Given the description of an element on the screen output the (x, y) to click on. 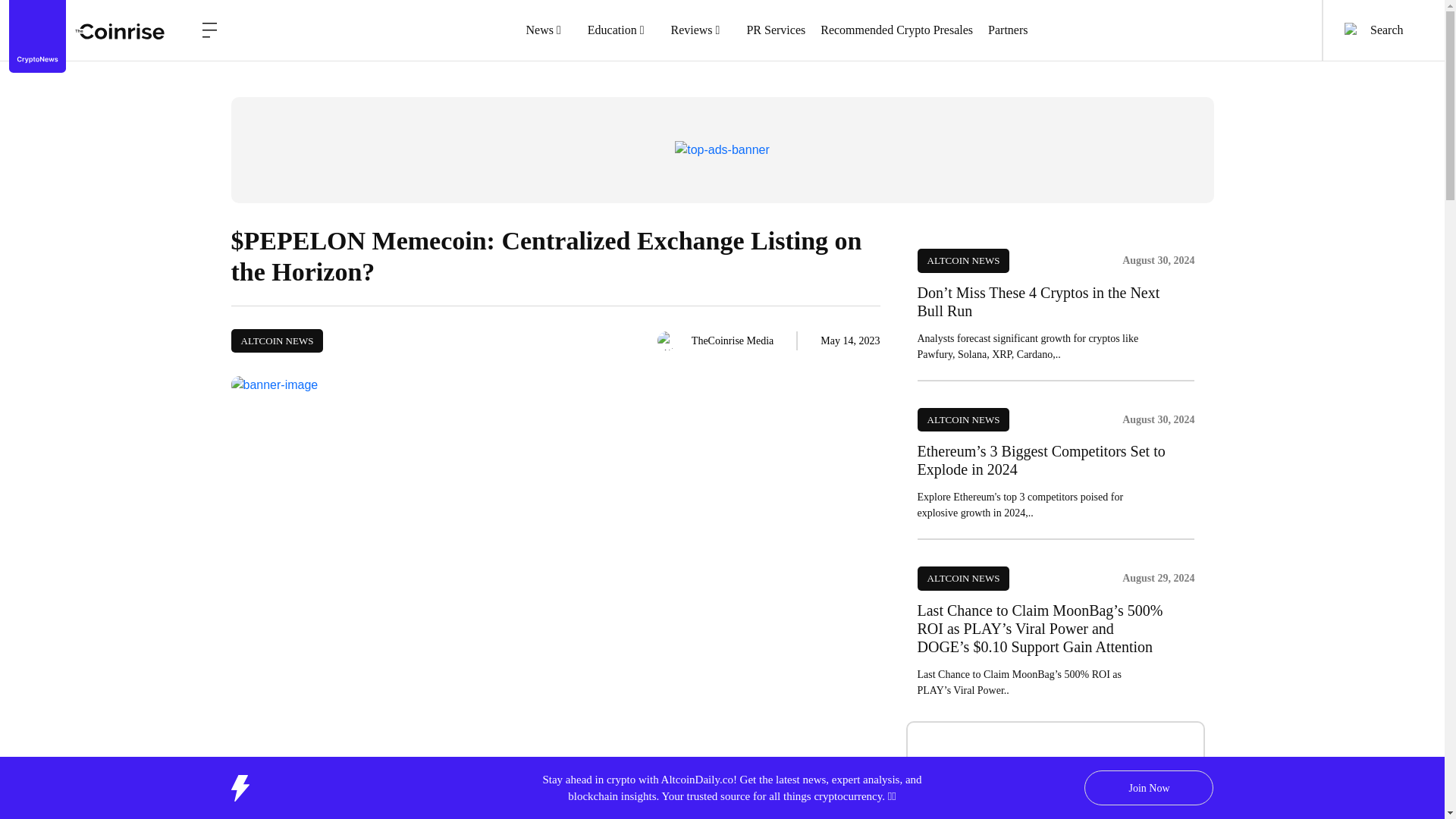
News (548, 29)
Education (622, 29)
Reviews (699, 29)
